Given the description of an element on the screen output the (x, y) to click on. 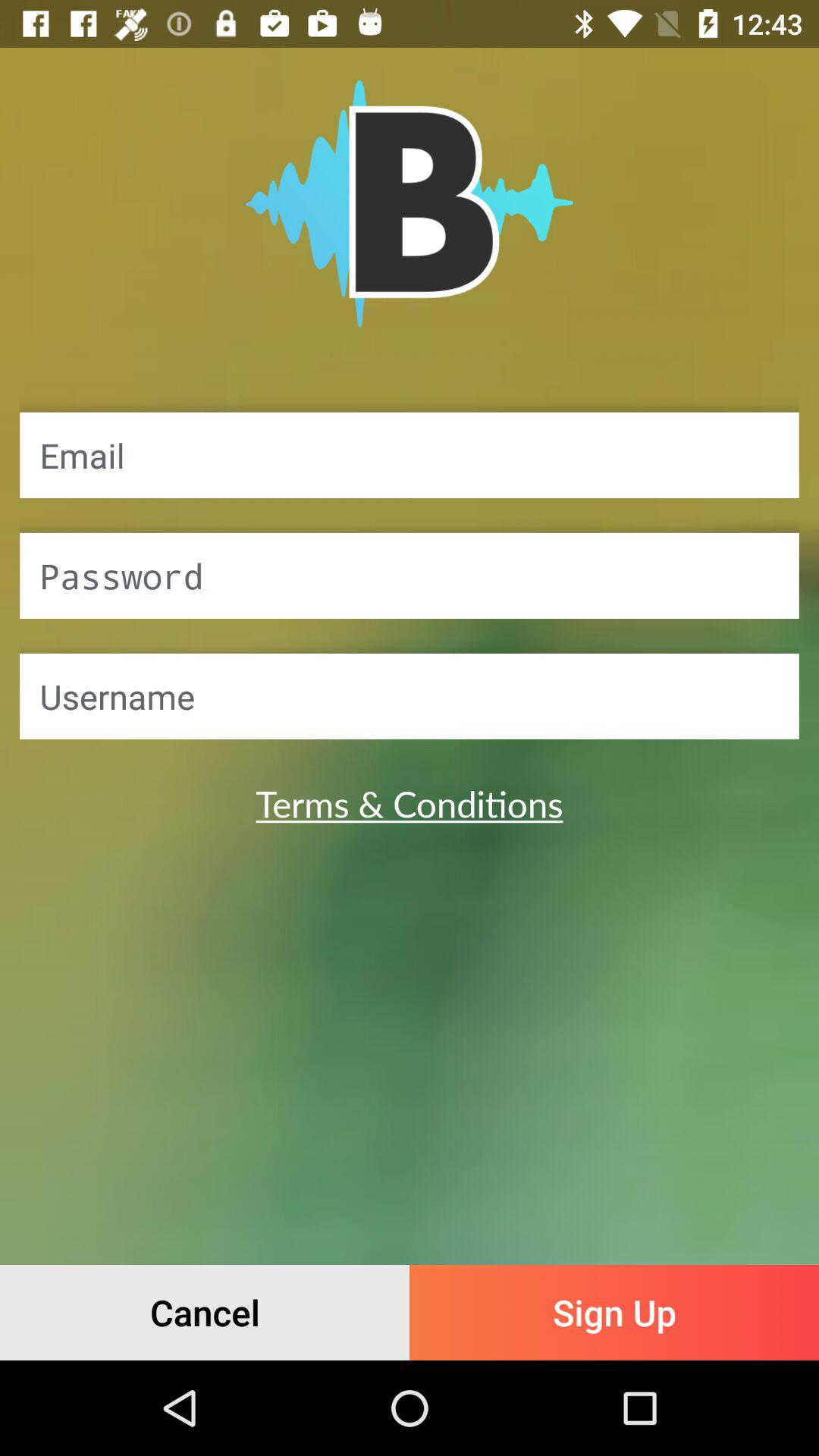
jump until cancel (204, 1312)
